Given the description of an element on the screen output the (x, y) to click on. 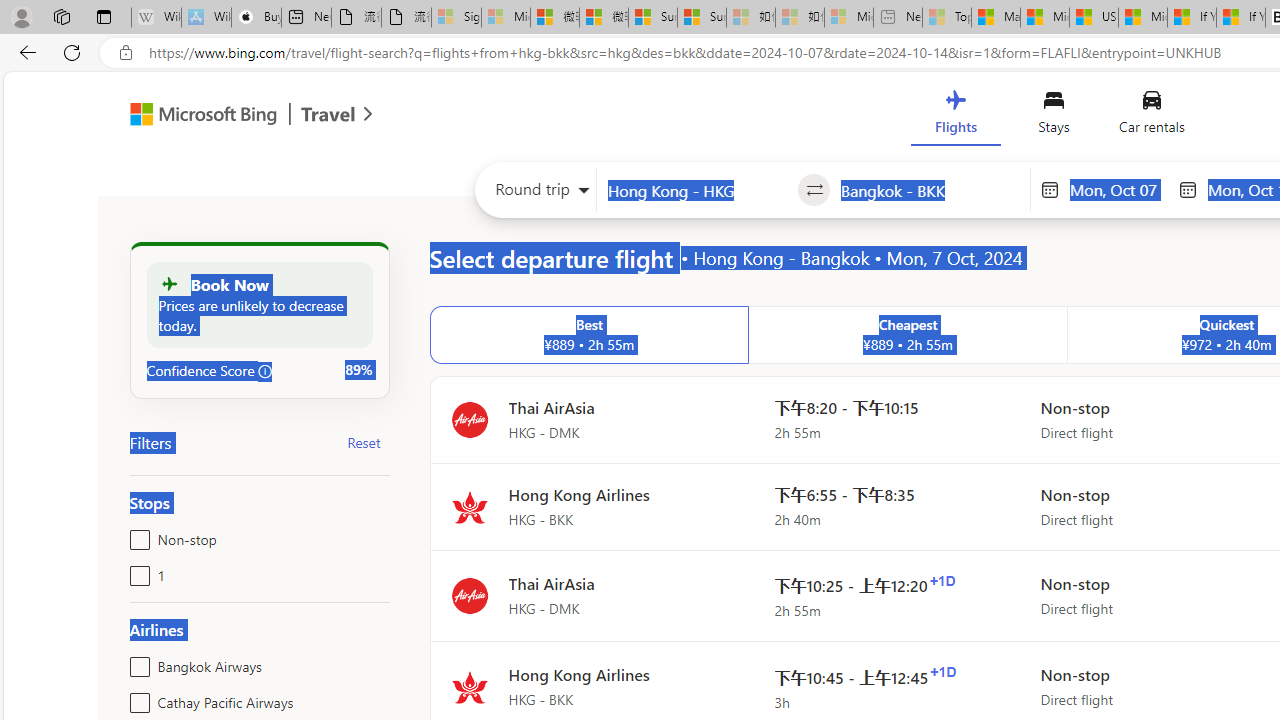
Microsoft account | Account Checkup - Sleeping (848, 17)
Stays (1053, 116)
Sign in to your Microsoft account - Sleeping (456, 17)
Travel (328, 116)
Class: autosuggest-container full-height no-y-padding (930, 190)
US Heat Deaths Soared To Record High Last Year (1093, 17)
Bangkok Airways (136, 662)
Non-stop (136, 535)
Car rentals (1150, 116)
Swap source and destination (813, 189)
Class: msft-bing-logo msft-bing-logo-desktop (198, 114)
Class: msft-travel-logo (328, 114)
